Given the description of an element on the screen output the (x, y) to click on. 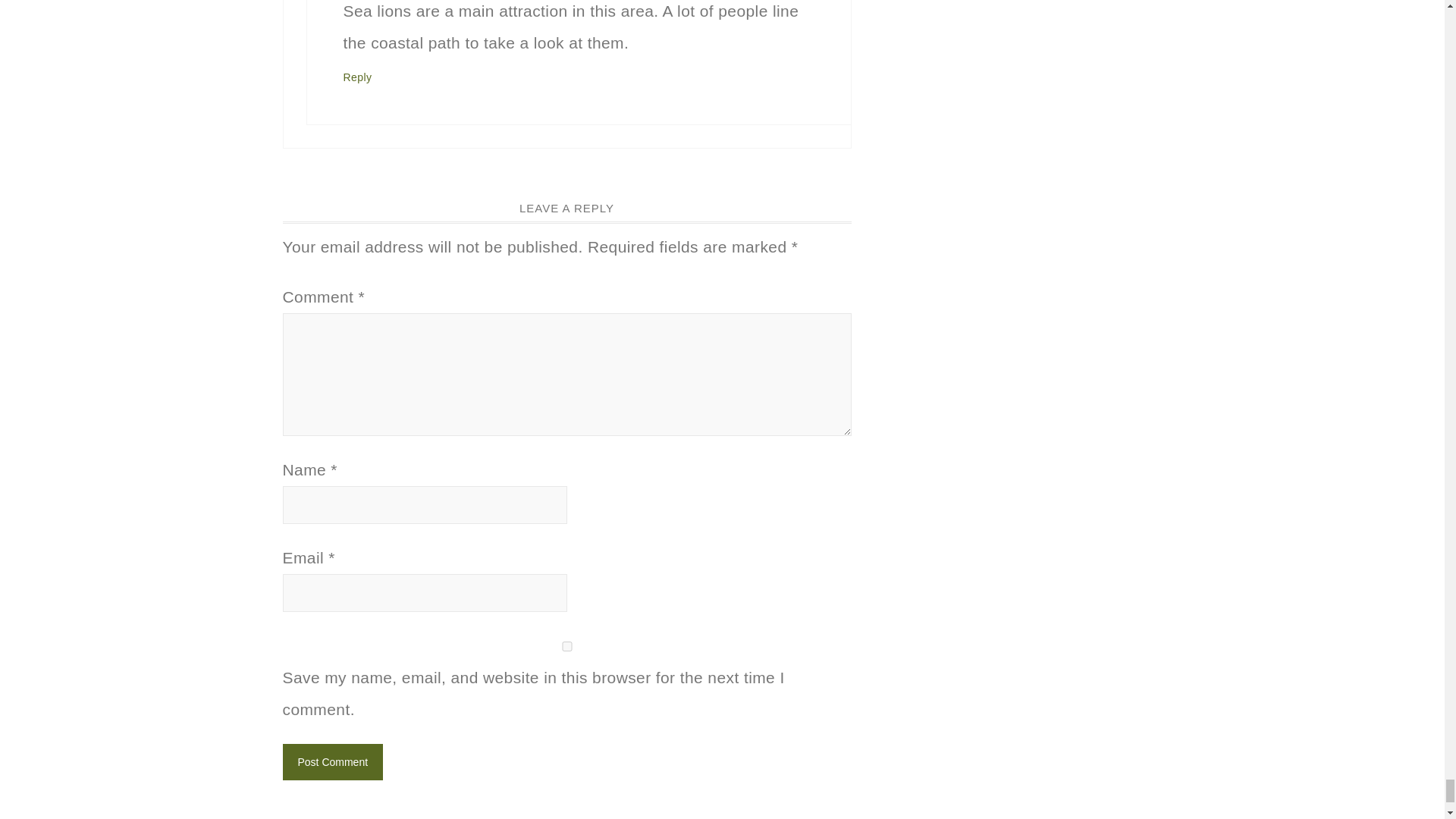
Post Comment (332, 761)
yes (566, 646)
